Given the description of an element on the screen output the (x, y) to click on. 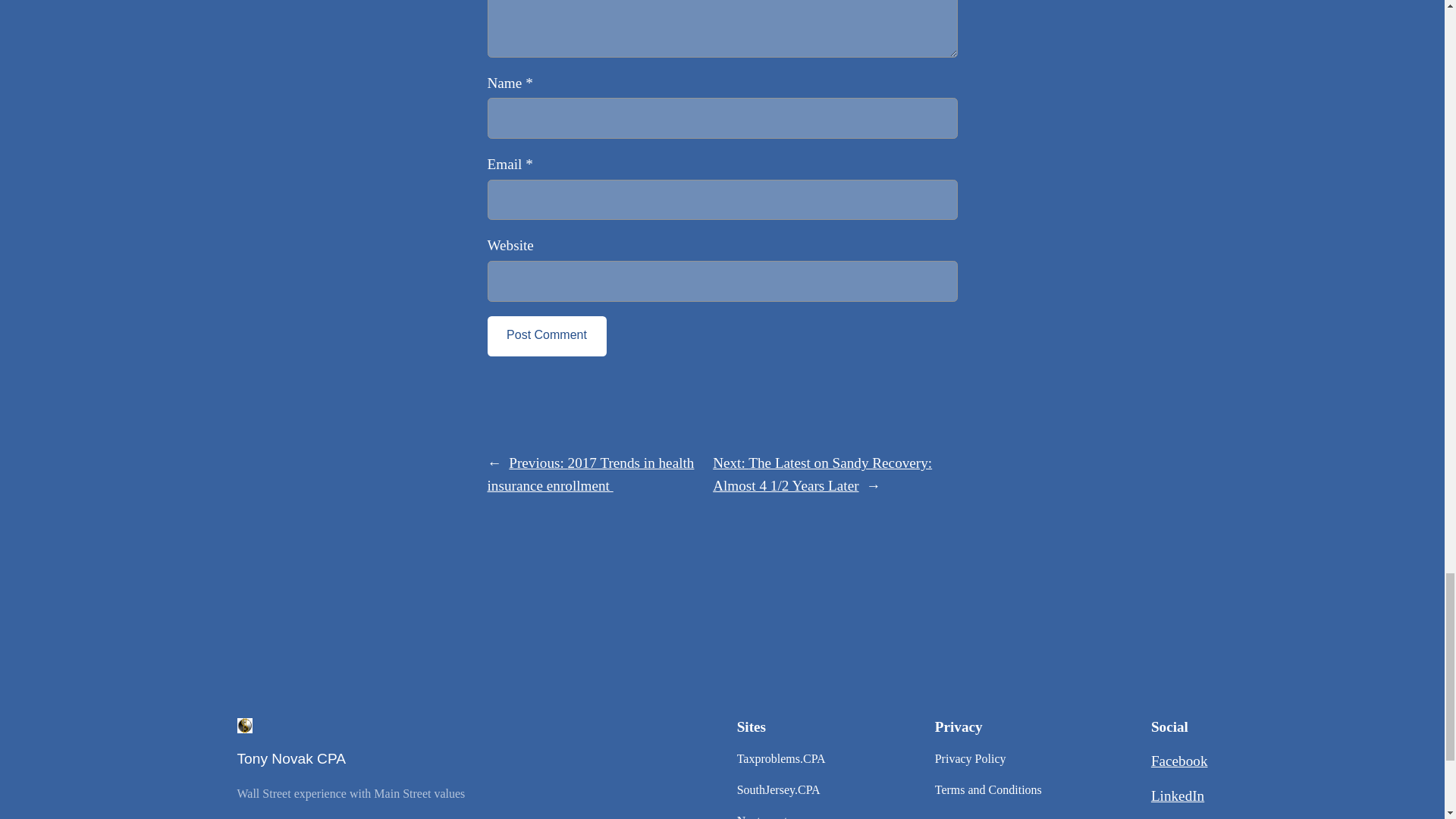
Privacy Policy (970, 759)
Terms and Conditions (988, 790)
Post Comment (545, 336)
LinkedIn (1177, 795)
Nantuxent.com (773, 815)
Post Comment (545, 336)
Tony Novak CPA (290, 758)
Taxproblems.CPA (780, 759)
Previous: 2017 Trends in health insurance enrollment  (590, 474)
Facebook (1179, 760)
